Given the description of an element on the screen output the (x, y) to click on. 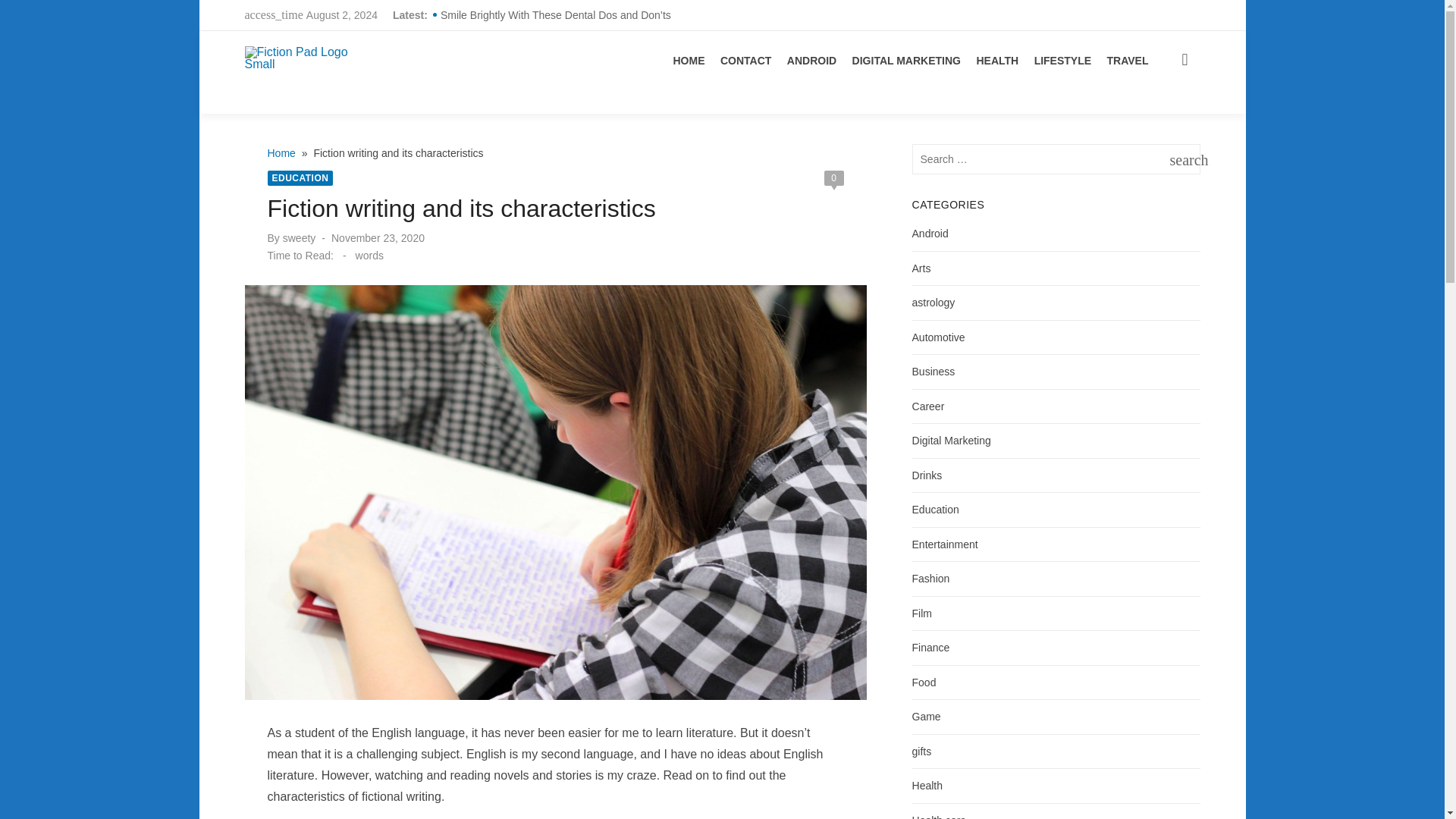
EDUCATION (299, 177)
November 23, 2020 (378, 237)
HOME (688, 60)
LIFESTYLE (1062, 60)
DIGITAL MARKETING (905, 60)
Home (282, 152)
TRAVEL (1127, 60)
HEALTH (997, 60)
sweety (298, 237)
CONTACT (745, 60)
ANDROID (812, 60)
0 (833, 177)
